Given the description of an element on the screen output the (x, y) to click on. 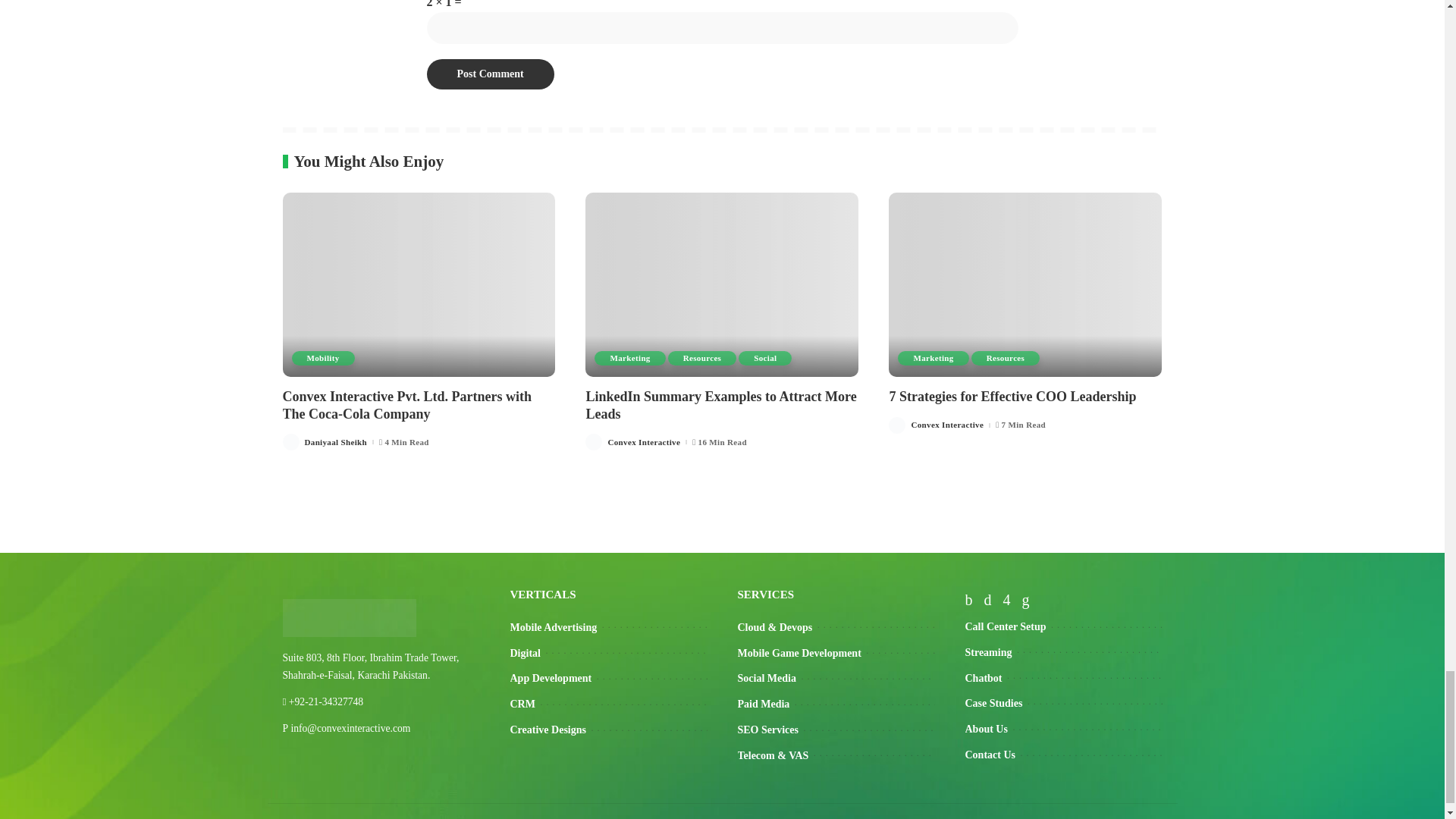
Post Comment (489, 73)
